Given the description of an element on the screen output the (x, y) to click on. 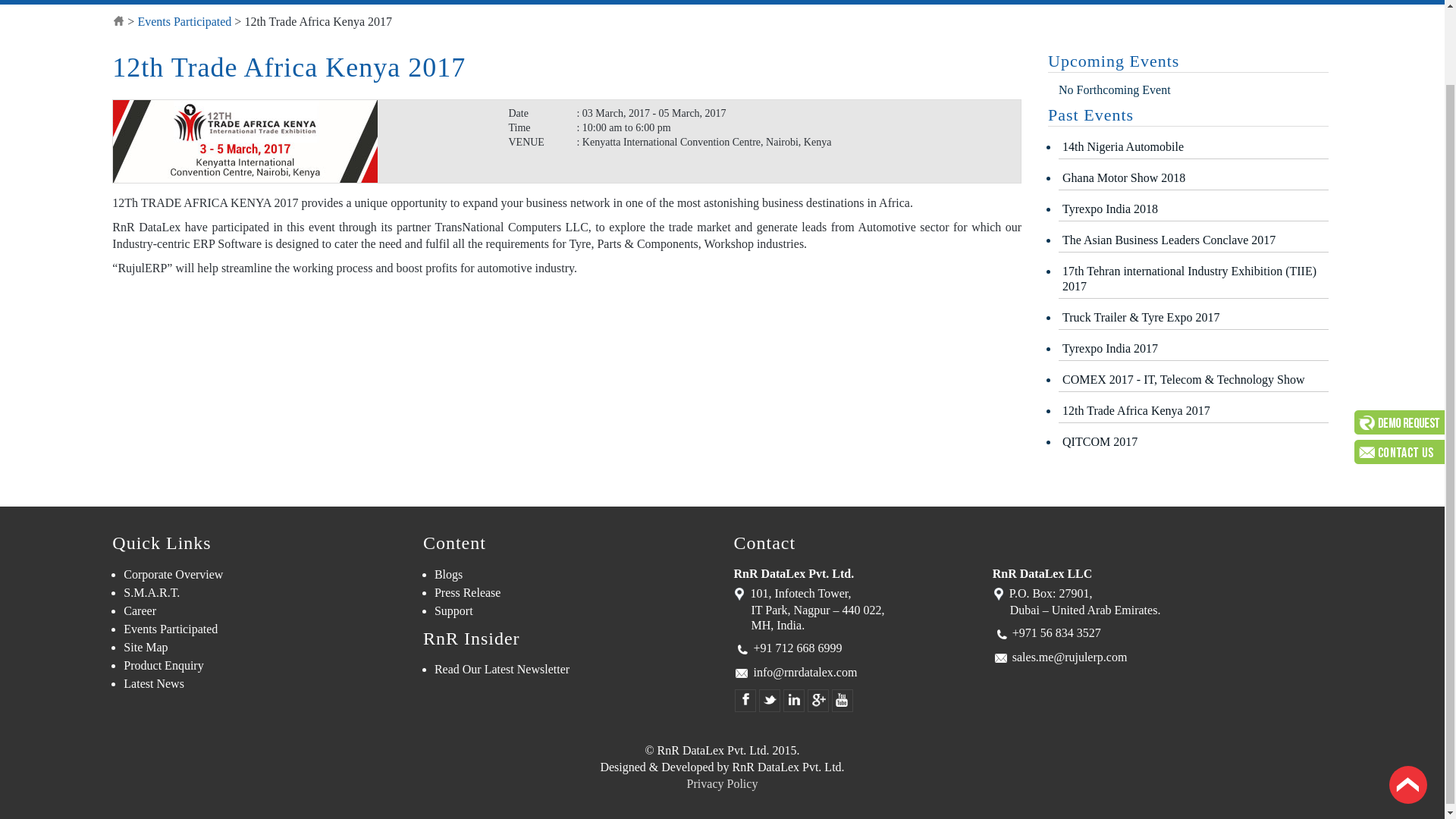
Go to Rujulerp. (117, 20)
Go to Events Participated. (183, 21)
